Given the description of an element on the screen output the (x, y) to click on. 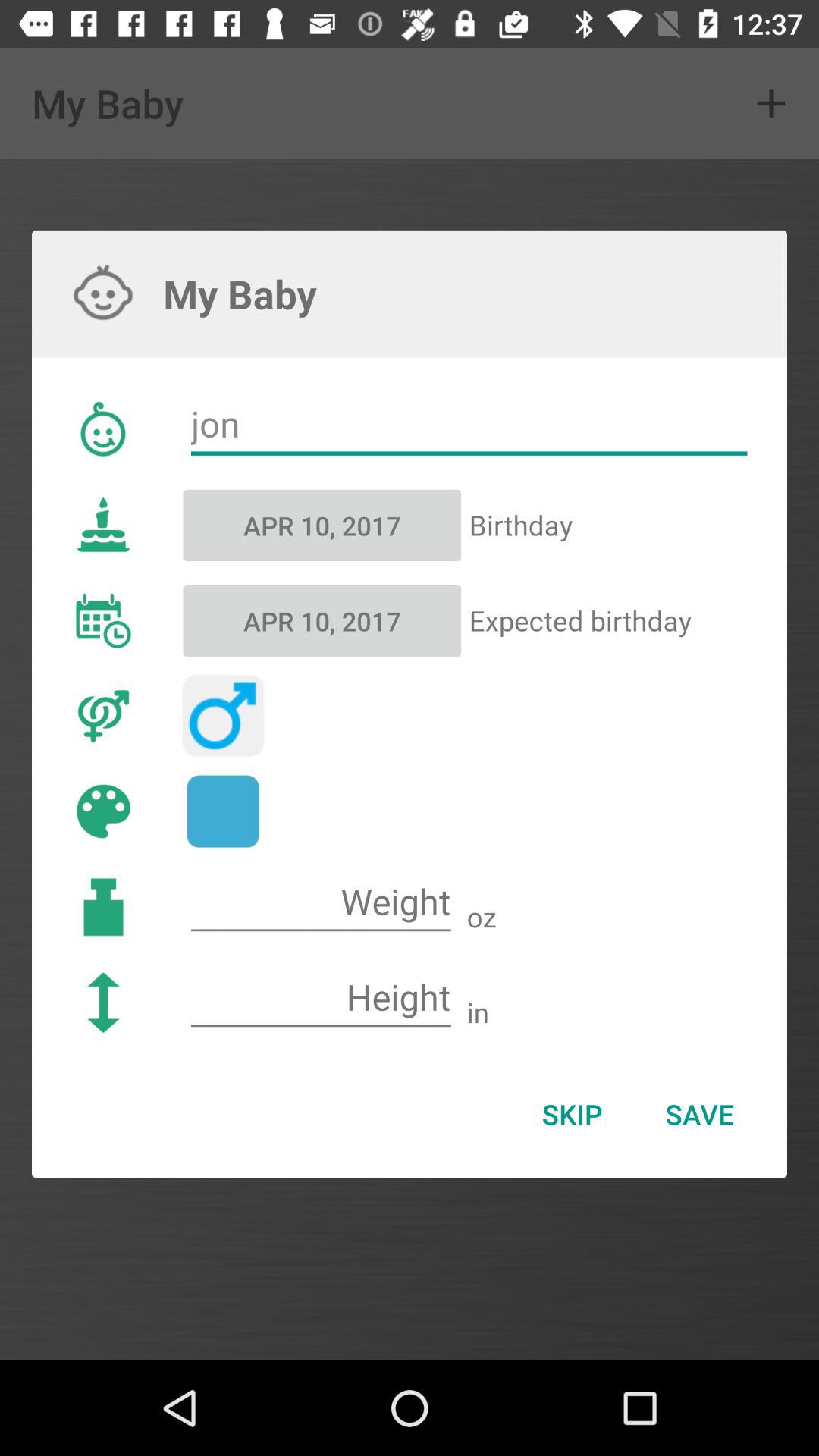
select color (222, 811)
